Given the description of an element on the screen output the (x, y) to click on. 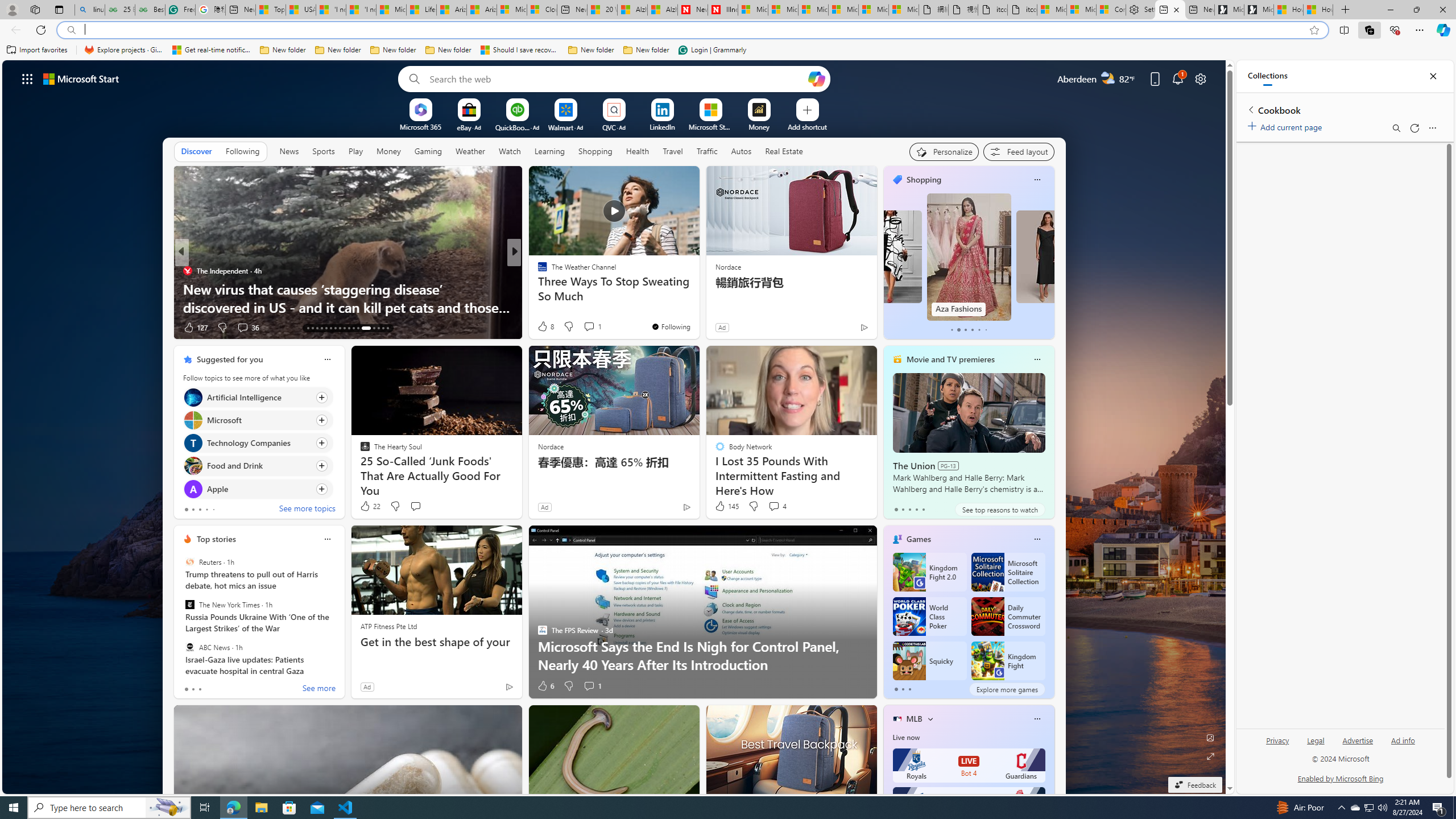
Royals LIVE Bot 4 Guardians (968, 765)
AutomationID: tab-29 (387, 328)
Free AI Writing Assistance for Students | Grammarly (180, 9)
Click to follow topic Technology Companies (257, 442)
Microsoft start (81, 78)
Reuters (189, 561)
222 Like (545, 327)
